Given the description of an element on the screen output the (x, y) to click on. 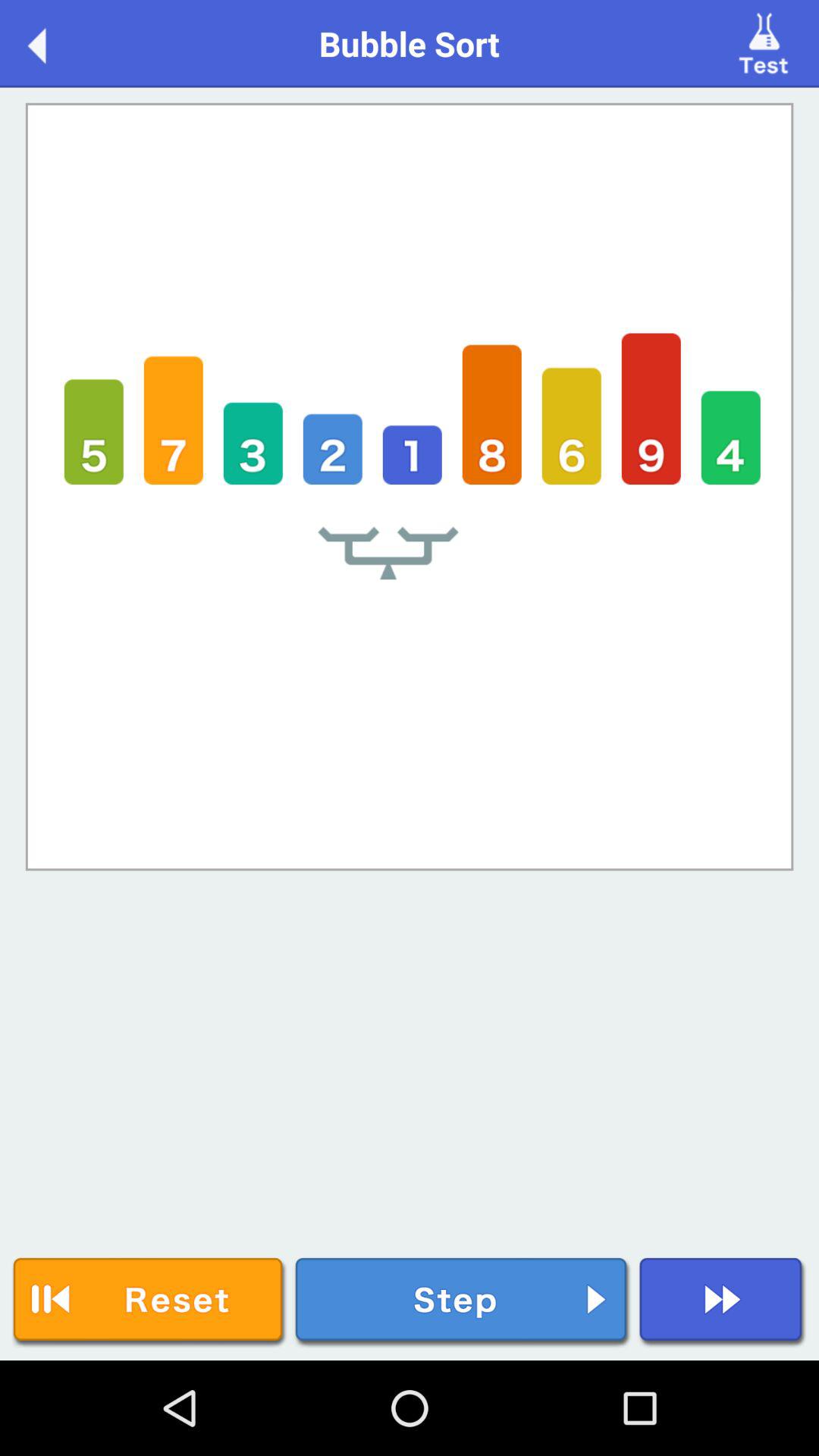
run check (766, 42)
